Given the description of an element on the screen output the (x, y) to click on. 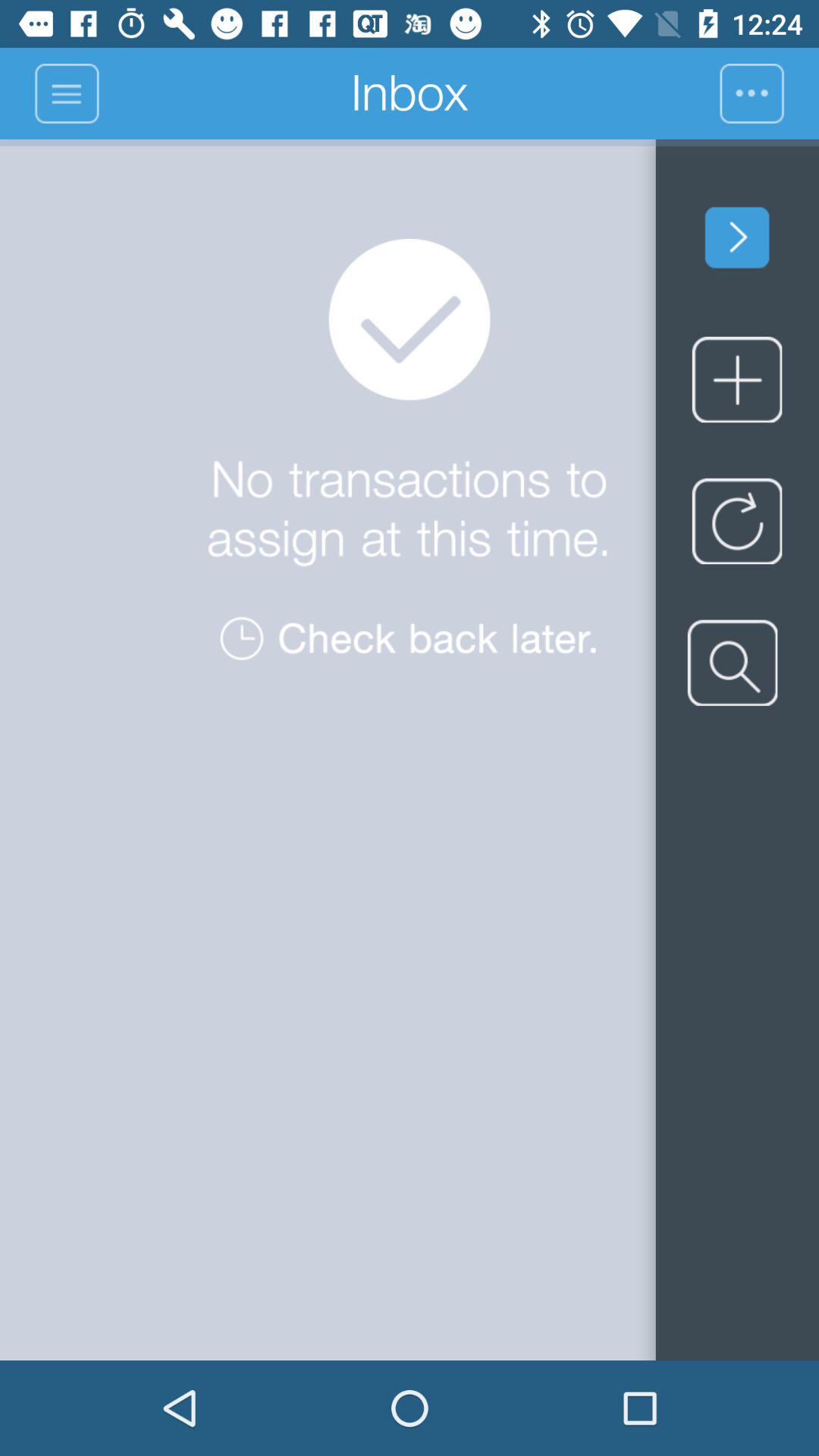
click the item next to the inbox (66, 93)
